Given the description of an element on the screen output the (x, y) to click on. 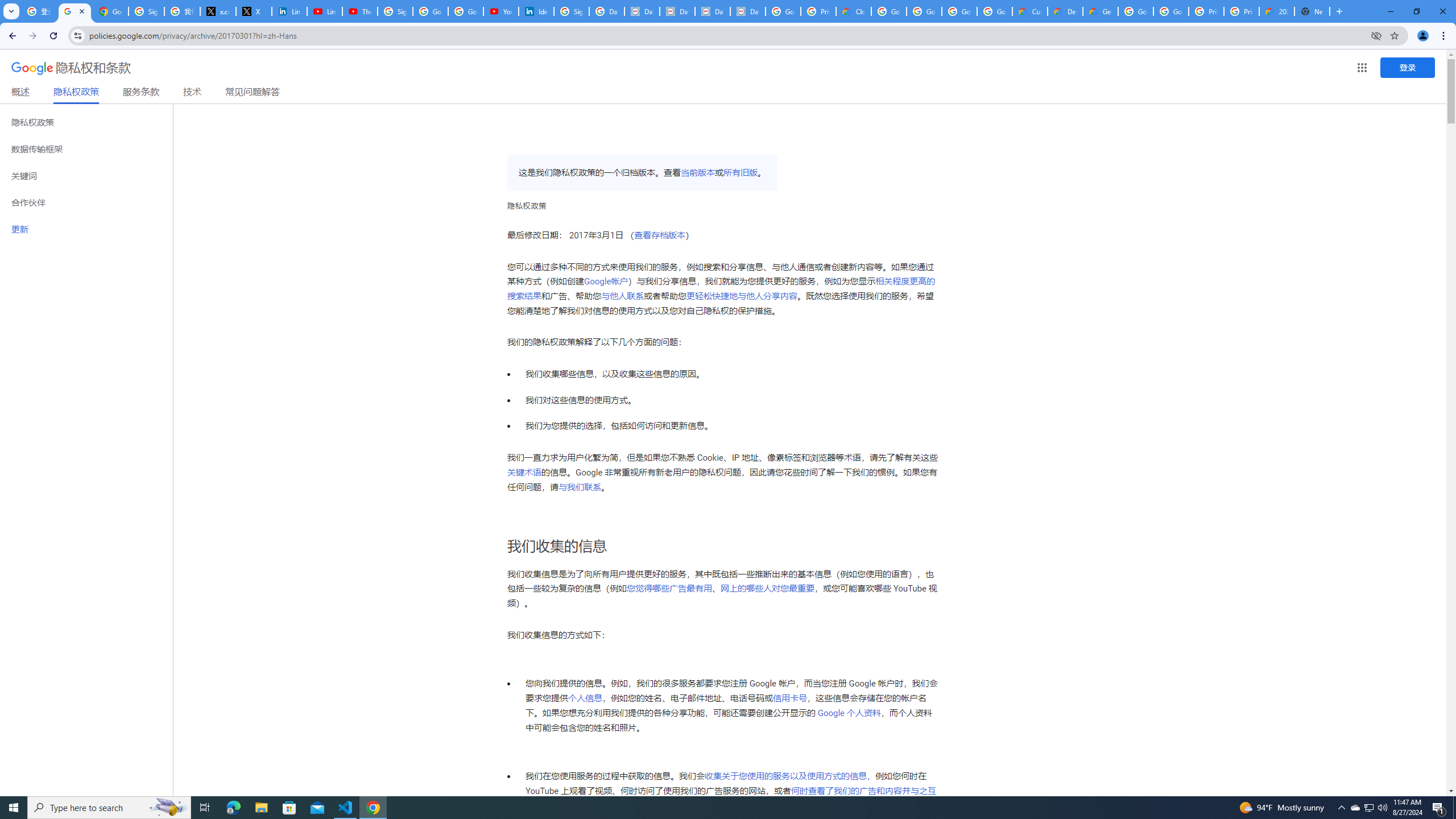
Sign in - Google Accounts (571, 11)
